Given the description of an element on the screen output the (x, y) to click on. 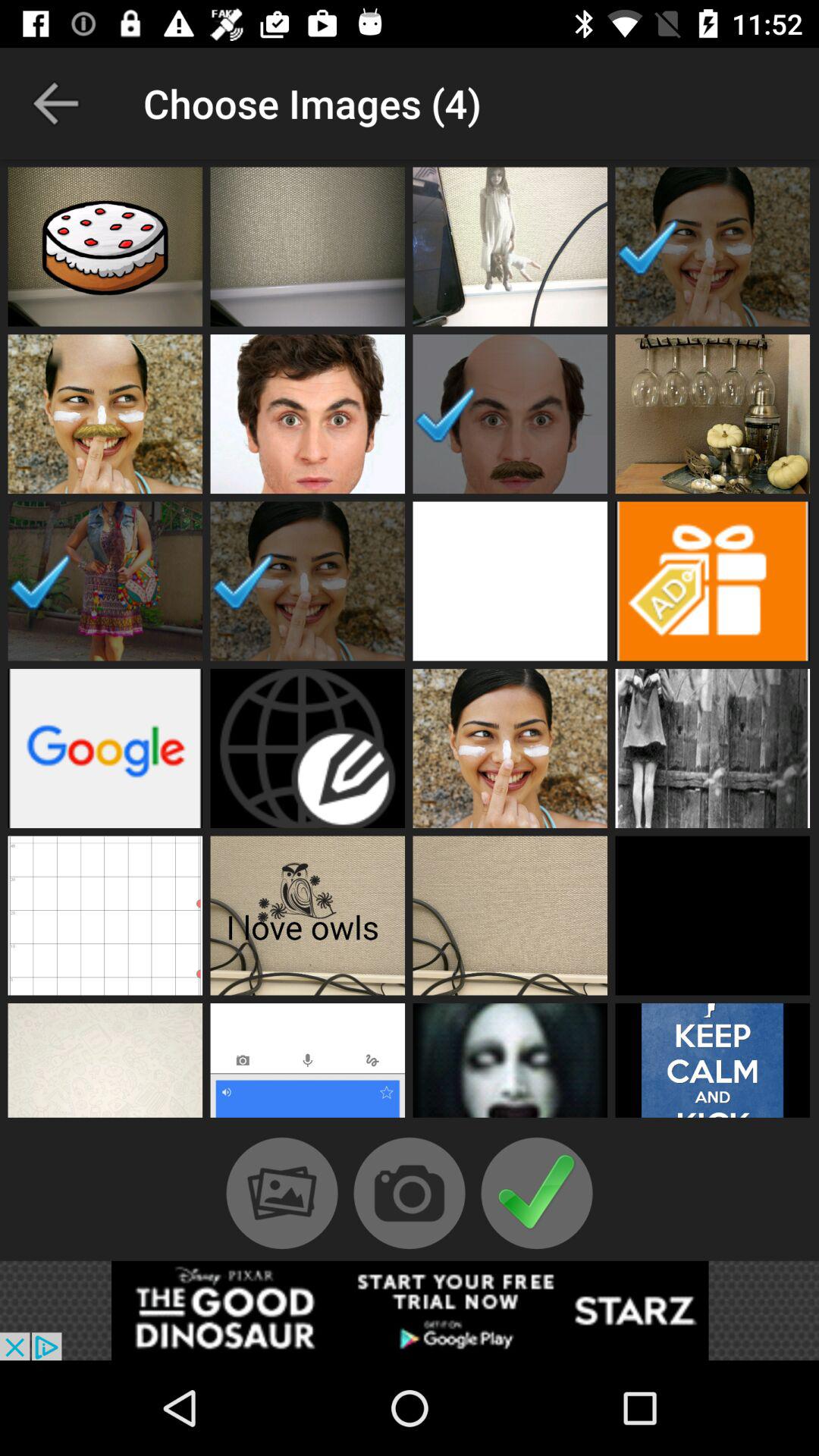
selected image (509, 413)
